Given the description of an element on the screen output the (x, y) to click on. 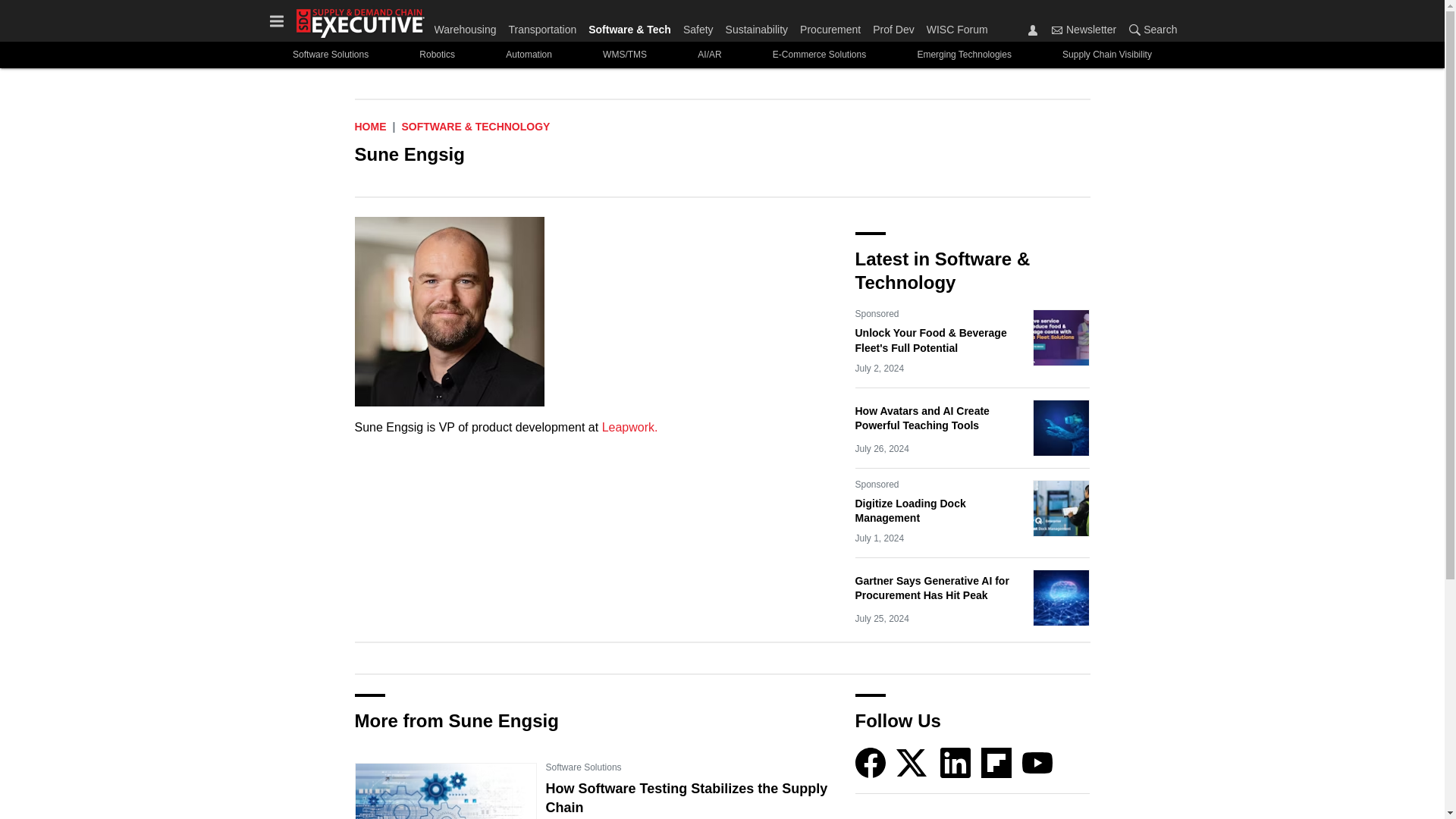
Warehousing (467, 26)
Transportation (542, 26)
Procurement (829, 26)
Visit us on Twitter (913, 761)
Newsletter (1056, 29)
Search (1149, 29)
Prof Dev (893, 26)
WISC Forum (954, 26)
YouTube icon (1037, 762)
Emerging Technologies (964, 54)
Visit us on Facebook (870, 761)
Sponsored (877, 484)
Twitter X icon (911, 762)
Facebook icon (870, 762)
Flipboard icon (996, 762)
